Given the description of an element on the screen output the (x, y) to click on. 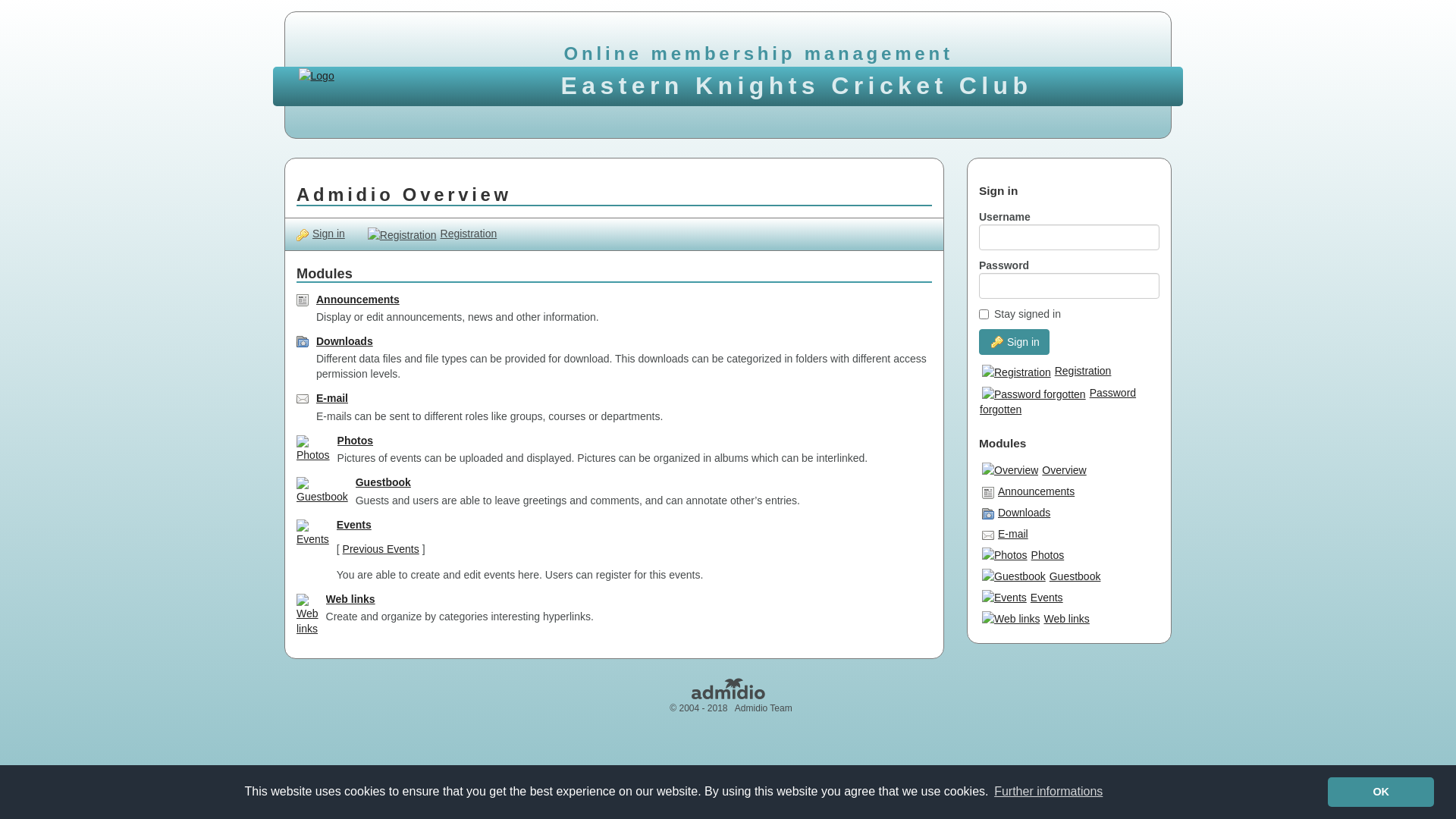
E-mail Element type: text (1008, 535)
Sign in Element type: text (326, 233)
Photos Element type: text (355, 440)
Announcements Element type: text (357, 299)
OK Element type: text (1380, 791)
Events Element type: text (1026, 599)
Events Element type: text (353, 524)
Guestbook Element type: text (1044, 578)
Photos Element type: text (1026, 556)
Downloads Element type: text (1019, 514)
Web links Element type: text (350, 599)
Registration Element type: text (1069, 373)
E-mail Element type: text (332, 398)
Previous Events Element type: text (380, 548)
Downloads Element type: text (344, 341)
Announcements Element type: text (1031, 493)
Web links Element type: text (1039, 620)
Password forgotten Element type: text (1069, 403)
Overview Element type: text (1037, 472)
Sign in Element type: text (1014, 341)
Further informations Element type: text (1048, 791)
Registration Element type: text (432, 233)
Guestbook Element type: text (383, 482)
